Given the description of an element on the screen output the (x, y) to click on. 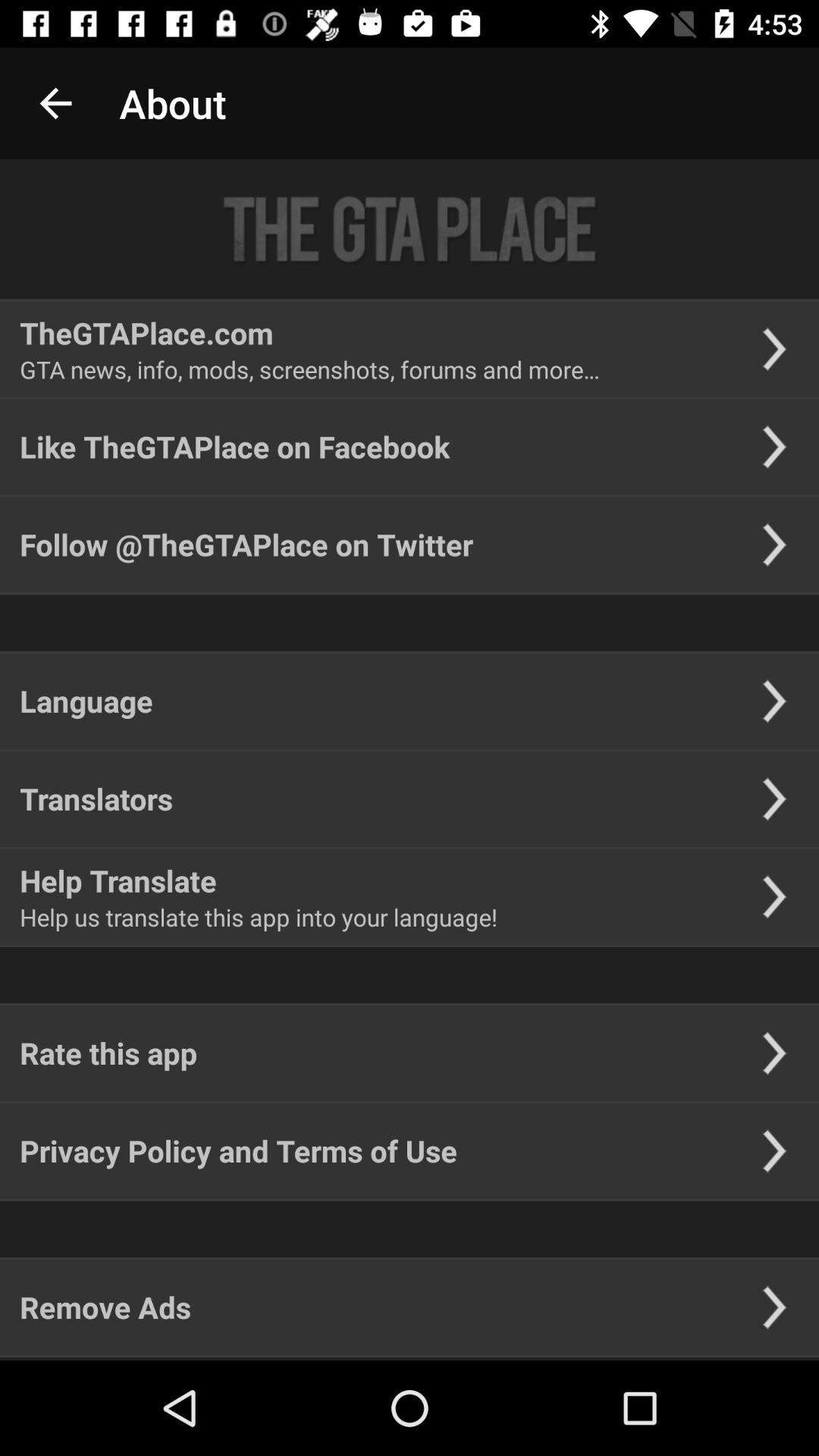
open item above gta news info (146, 332)
